Given the description of an element on the screen output the (x, y) to click on. 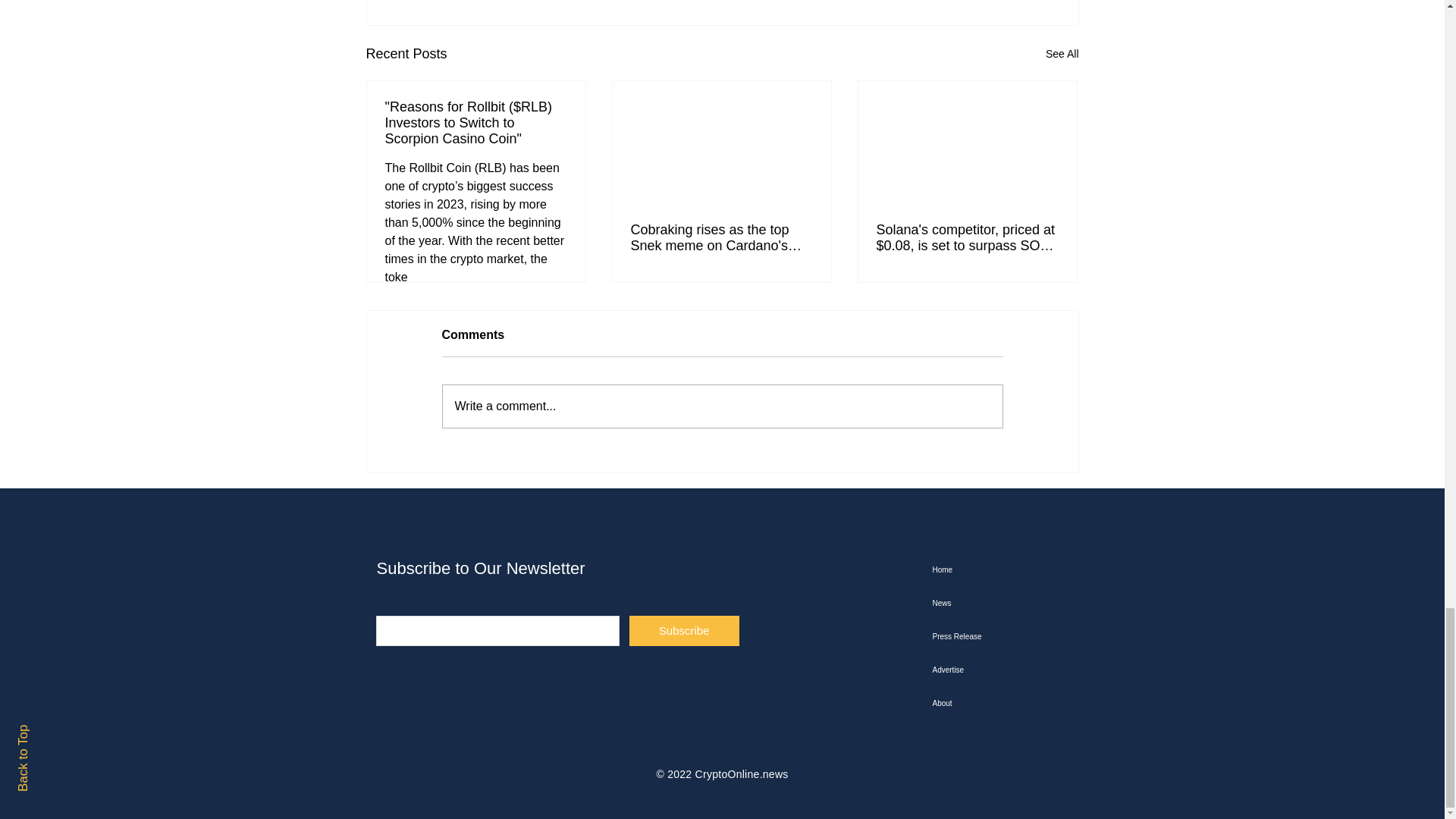
See All (1061, 54)
Subscribe (683, 630)
Write a comment... (722, 405)
